Given the description of an element on the screen output the (x, y) to click on. 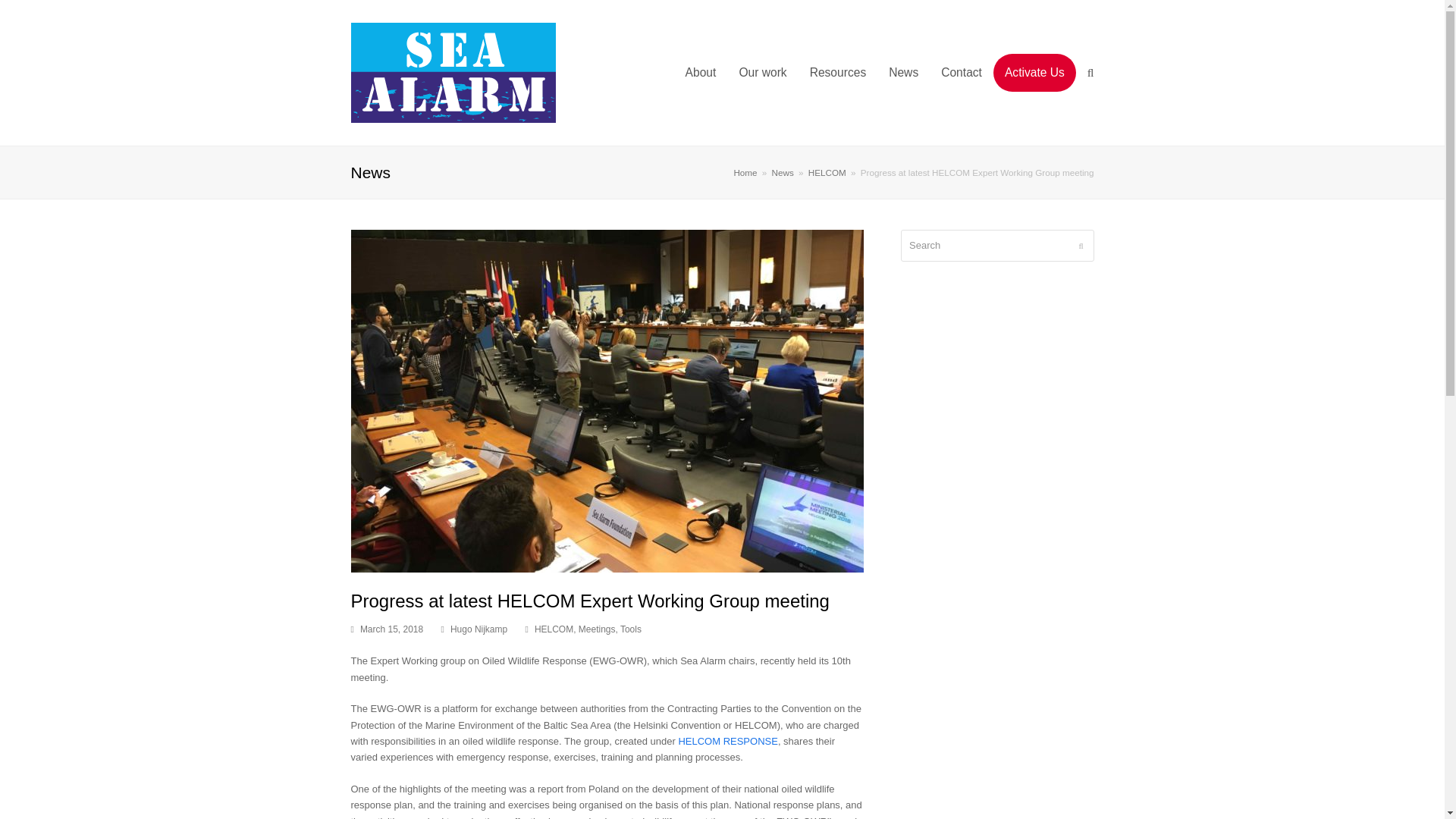
Resources (837, 72)
Tools (631, 629)
Meetings (596, 629)
Home (745, 172)
Posts by Hugo Nijkamp (477, 629)
HELCOM (826, 172)
Contact (961, 72)
HELCOM RESPONSE (727, 740)
Our work (761, 72)
Hugo Nijkamp (477, 629)
